Given the description of an element on the screen output the (x, y) to click on. 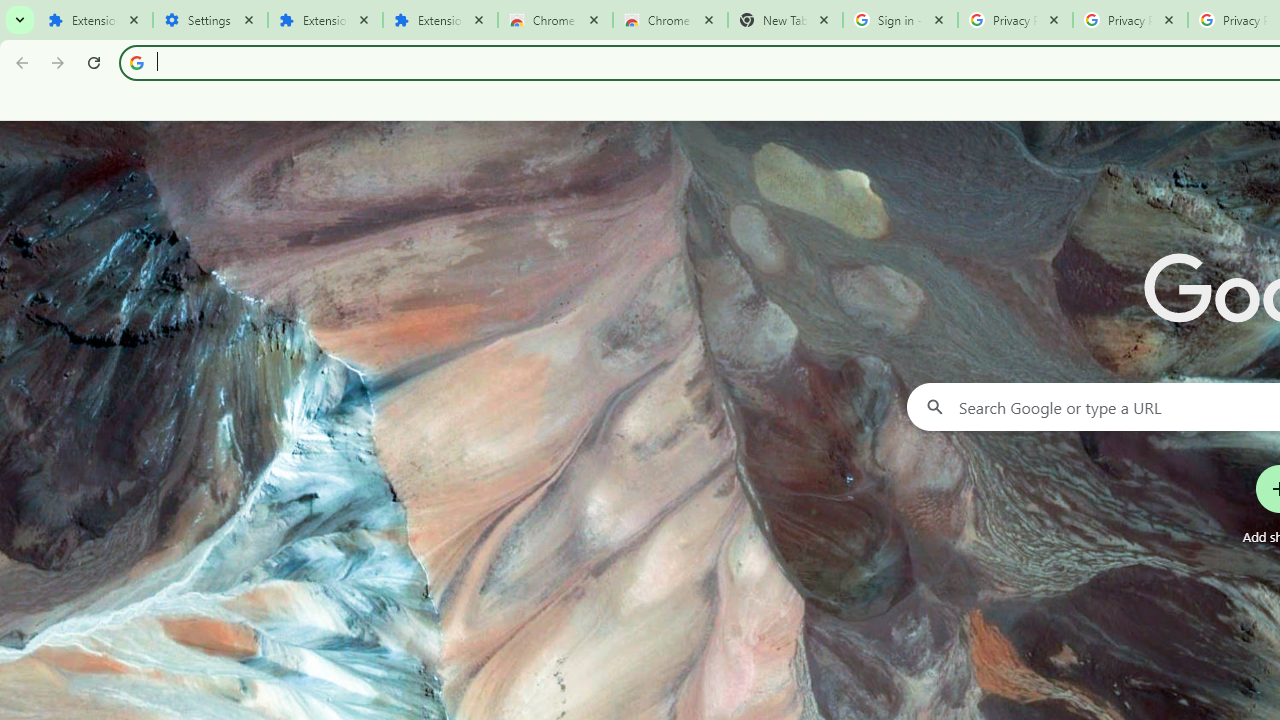
Extensions (95, 20)
